Given the description of an element on the screen output the (x, y) to click on. 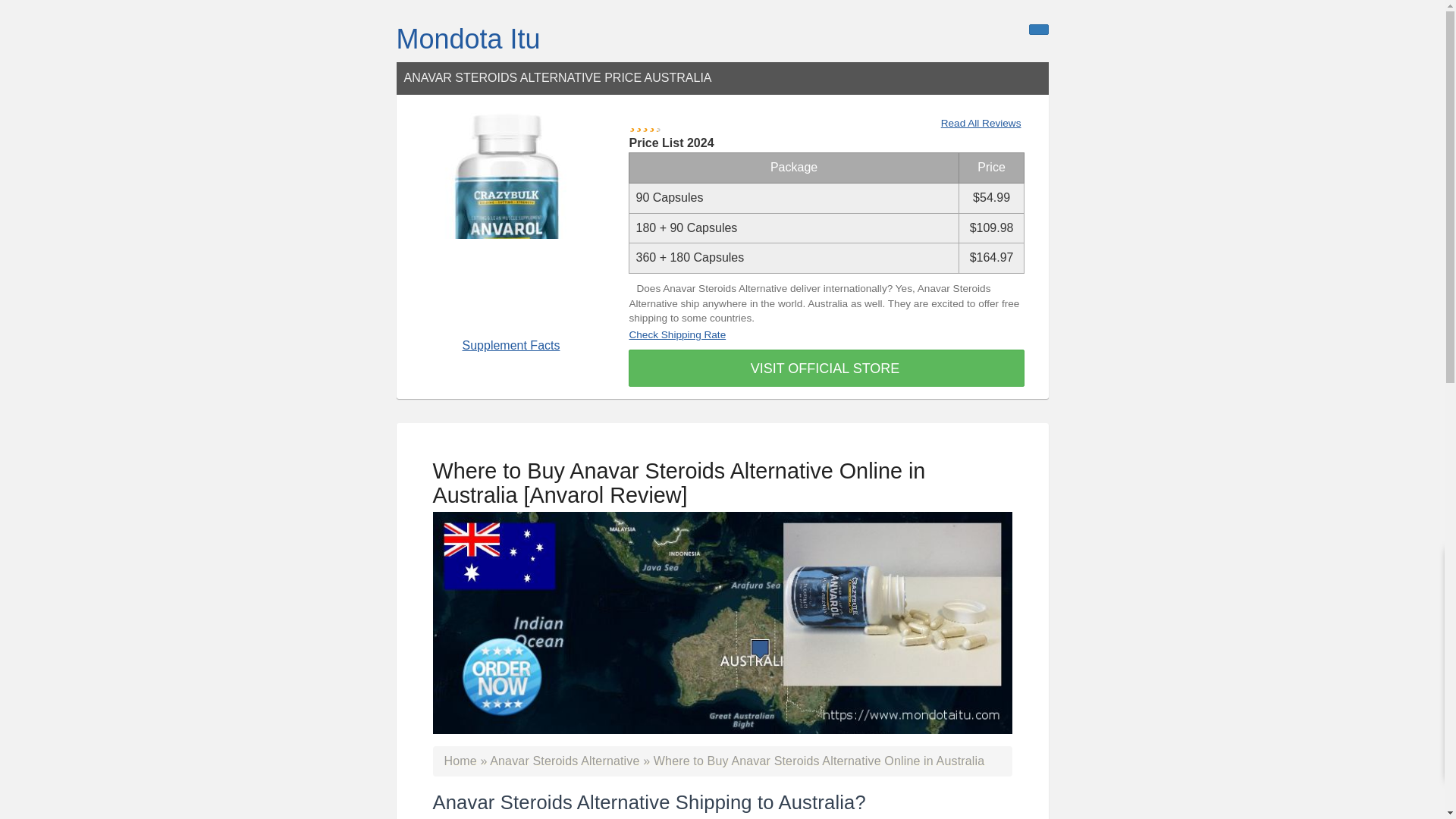
Mondota Itu (468, 38)
Home (460, 760)
Buy Anavar Steroids Alternative Online  (564, 760)
Anavar Steroids Alternative (564, 760)
Mondota Itu (468, 38)
Anavar Steroids Alternative Price Australia (512, 220)
